Given the description of an element on the screen output the (x, y) to click on. 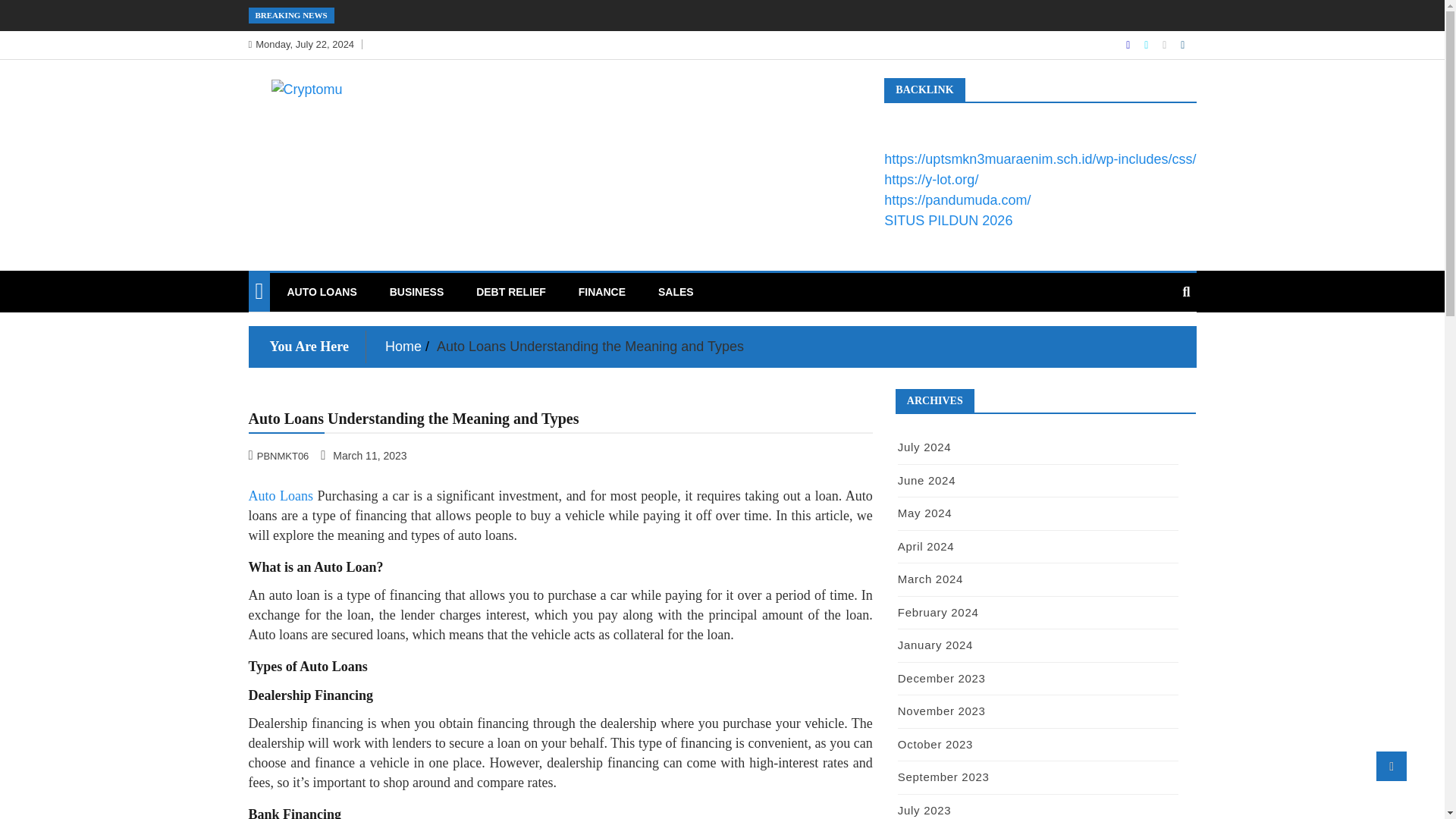
SALES (675, 291)
Cryptomu (308, 120)
PBNMKT06 (280, 454)
March 11, 2023 (364, 454)
BUSINESS (416, 291)
SITUS PILDUN 2026 (947, 220)
Home (403, 346)
FINANCE (602, 291)
AUTO LOANS (321, 291)
DEBT RELIEF (510, 291)
Auto Loans (281, 495)
